Given the description of an element on the screen output the (x, y) to click on. 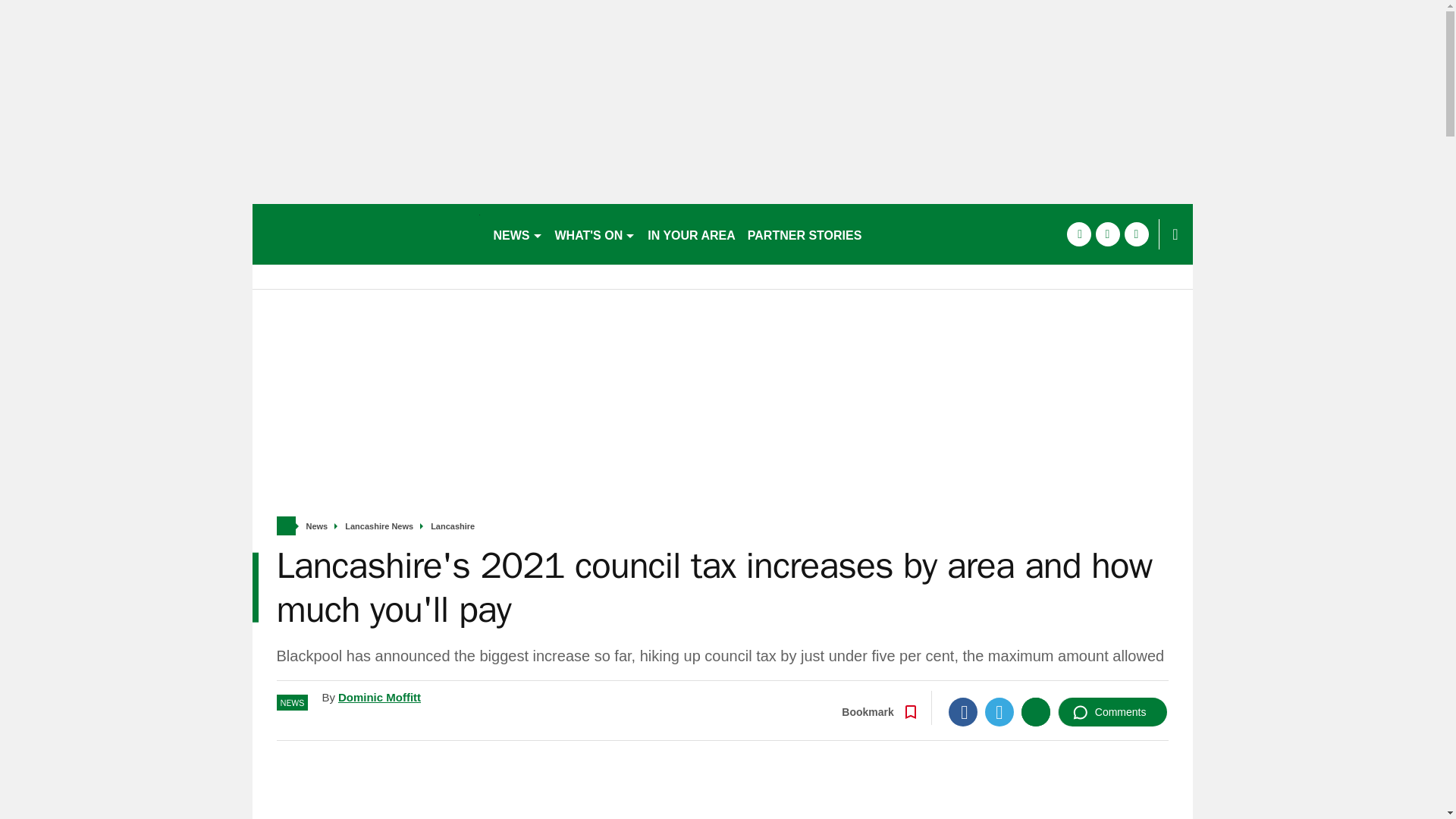
Twitter (999, 711)
IN YOUR AREA (691, 233)
twitter (1106, 233)
facebook (1077, 233)
WHAT'S ON (595, 233)
Comments (1112, 711)
accrington (365, 233)
Facebook (962, 711)
instagram (1136, 233)
NEWS (517, 233)
